Given the description of an element on the screen output the (x, y) to click on. 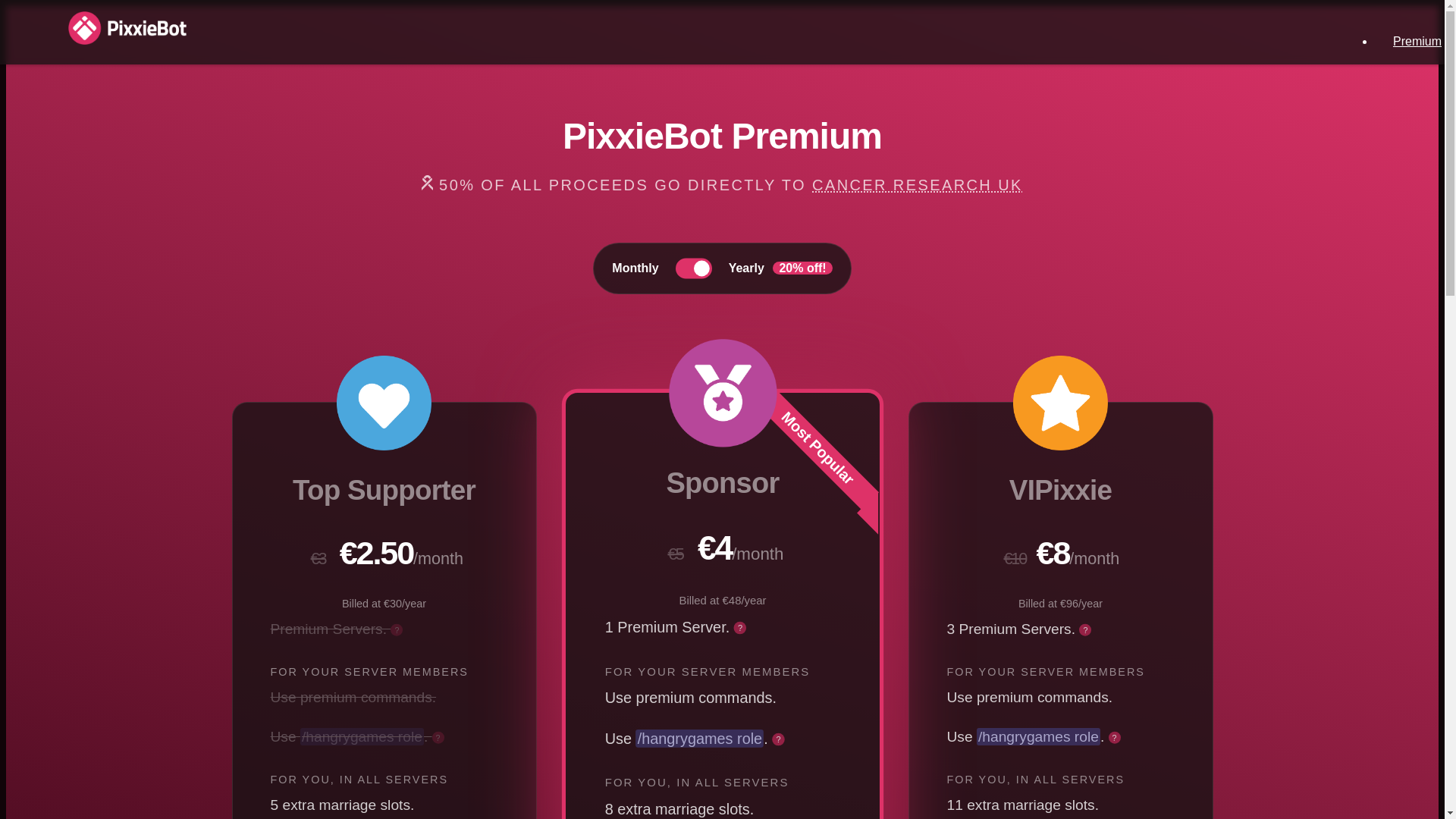
CANCER RESEARCH UK (917, 184)
